Given the description of an element on the screen output the (x, y) to click on. 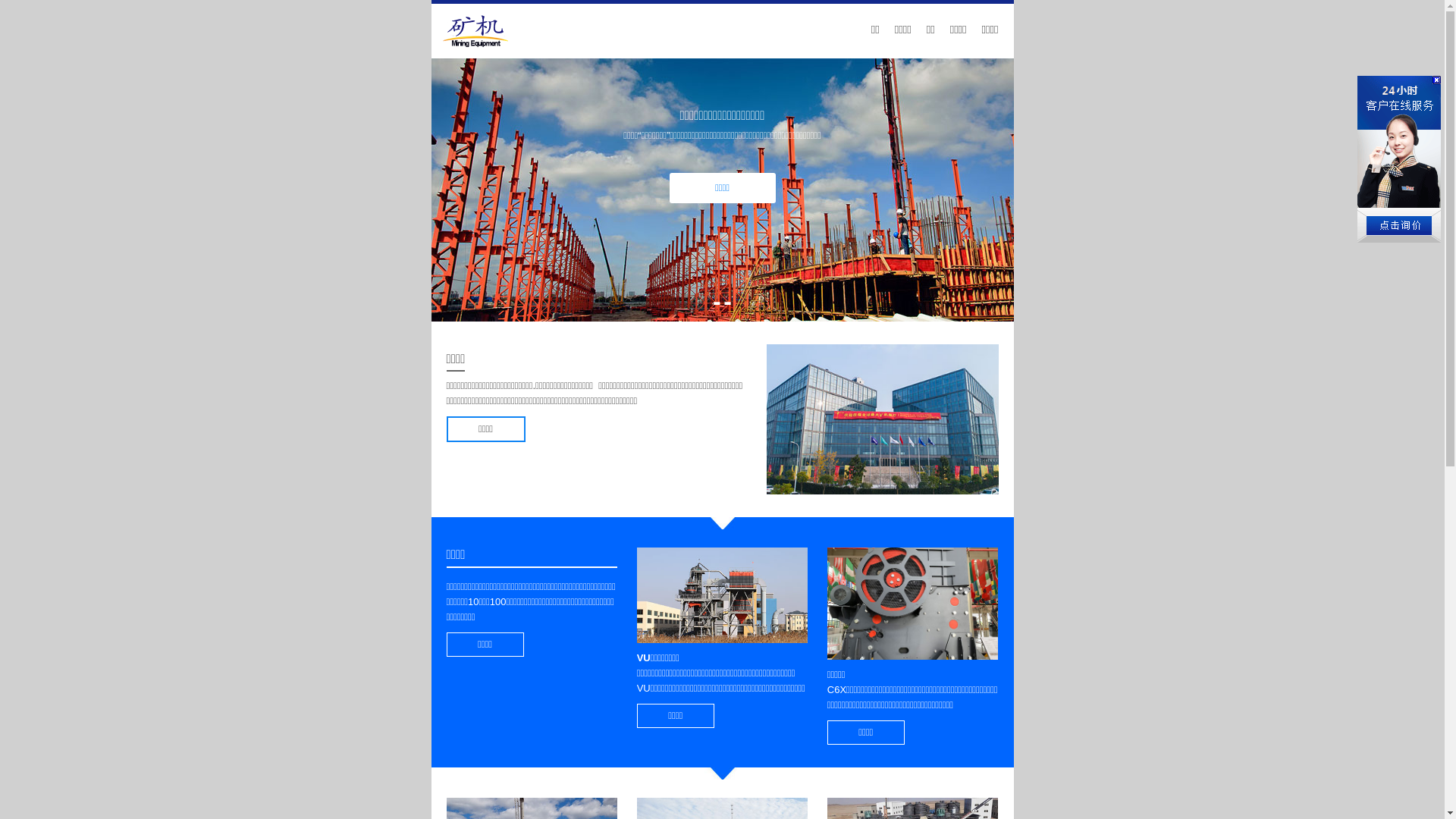
- Element type: text (716, 300)
- Element type: text (727, 300)
